Given the description of an element on the screen output the (x, y) to click on. 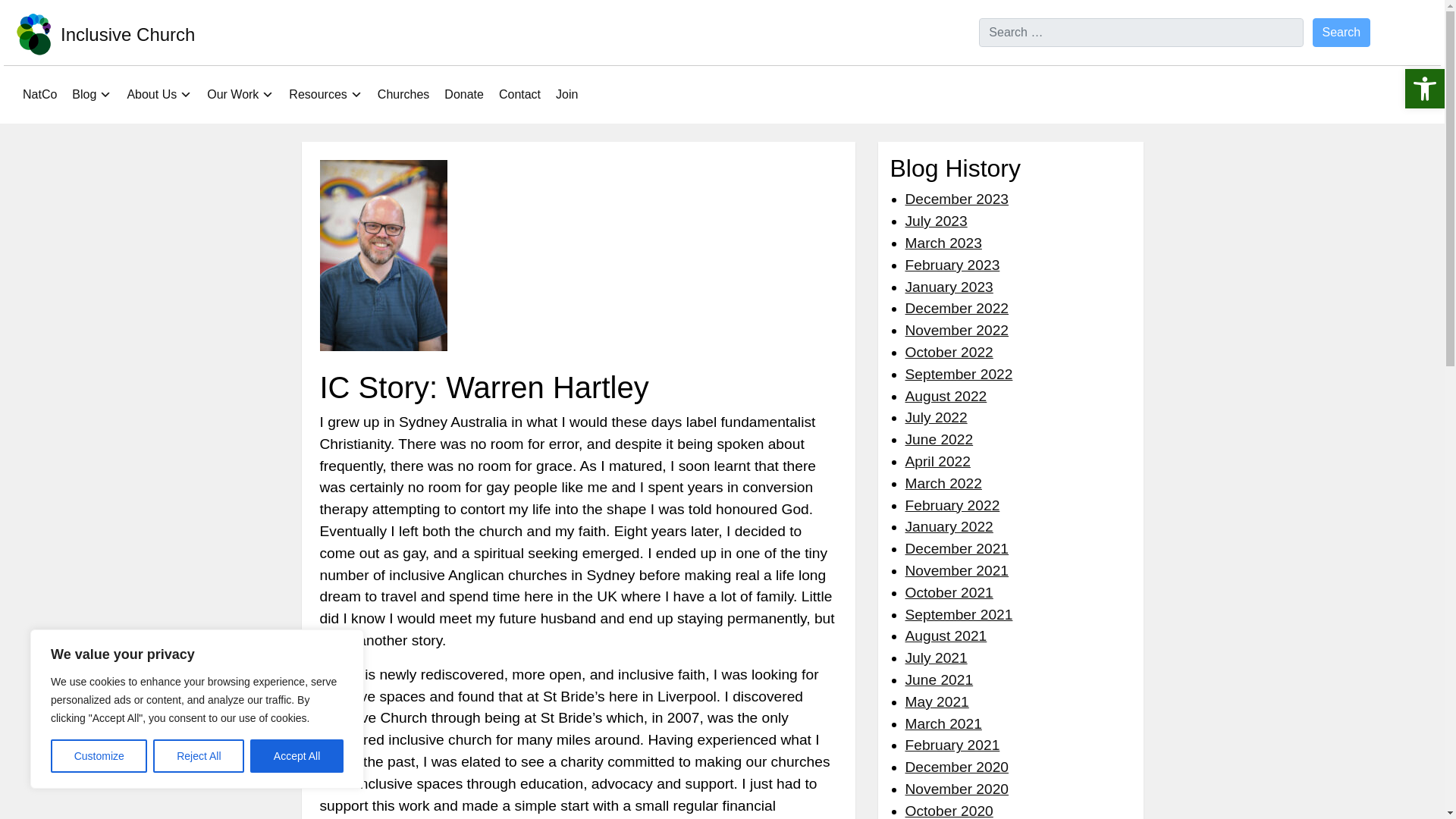
Reject All (198, 756)
Search (1342, 32)
NatCo (39, 94)
Blog (91, 94)
Inclusive Church (128, 34)
Accessibility Tools (1424, 87)
Customize (98, 756)
Accept All (296, 756)
About Us (159, 94)
